Given the description of an element on the screen output the (x, y) to click on. 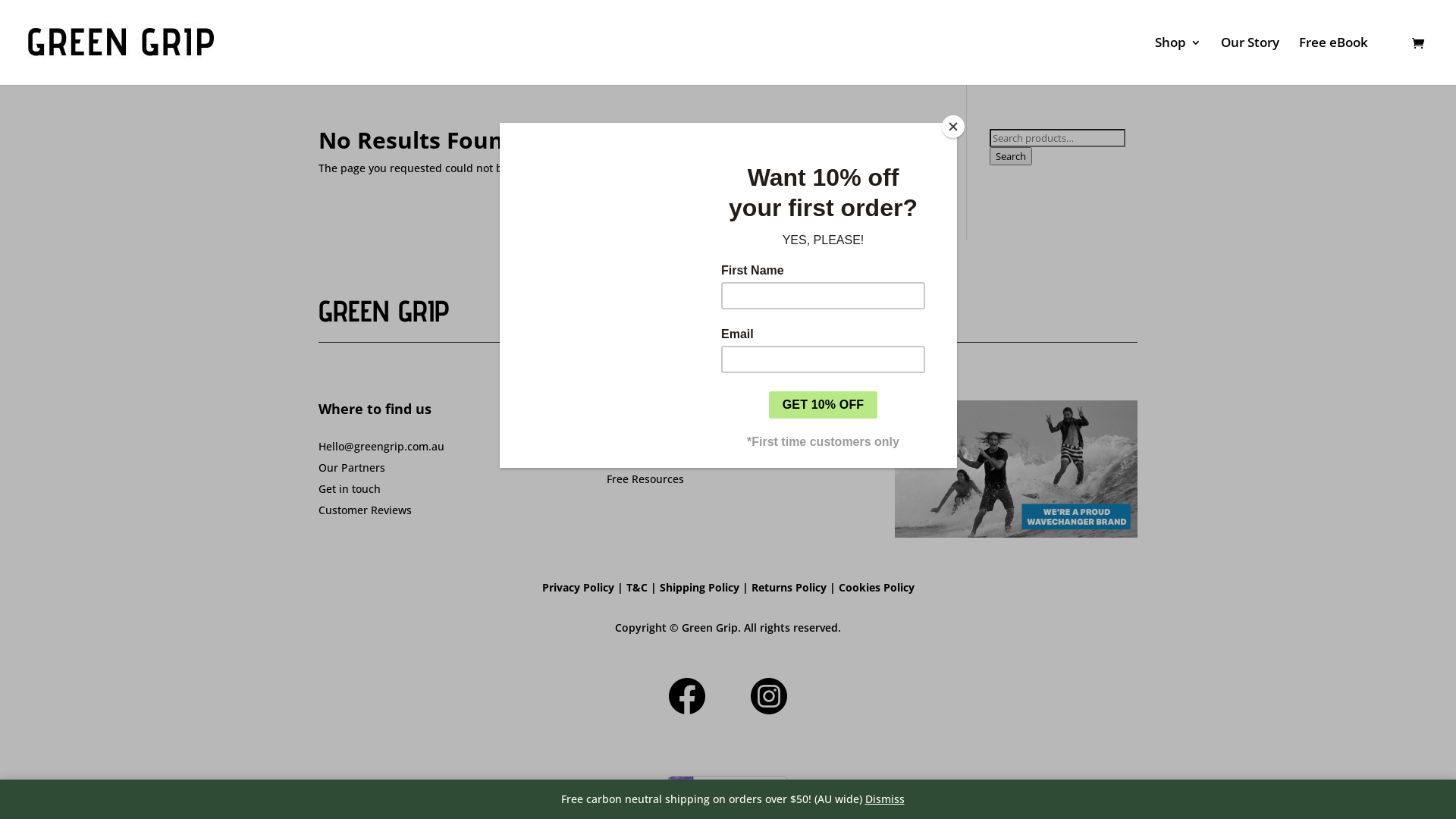
Verified by MonsterInsights Element type: hover (727, 790)
Free Resources Element type: text (645, 478)
Privacy Policy Element type: text (577, 586)
Our Partners Element type: text (351, 467)
Shop Element type: text (1177, 60)
Our Story Element type: text (1249, 60)
Cookies Policy Element type: text (876, 586)
Blogs Element type: text (619, 449)
Promo banner 1920 x 1080 copy Element type: hover (1015, 468)
Search Element type: text (1010, 156)
Facebook Element type: hover (686, 695)
Get in touch Element type: text (349, 488)
Dismiss Element type: text (883, 798)
Free eBook Element type: text (1333, 60)
Returns Policy Element type: text (787, 586)
Customer Reviews Element type: text (364, 509)
Shipping Policy Element type: text (699, 586)
T&C Element type: text (636, 586)
Instagram Element type: hover (768, 695)
